Given the description of an element on the screen output the (x, y) to click on. 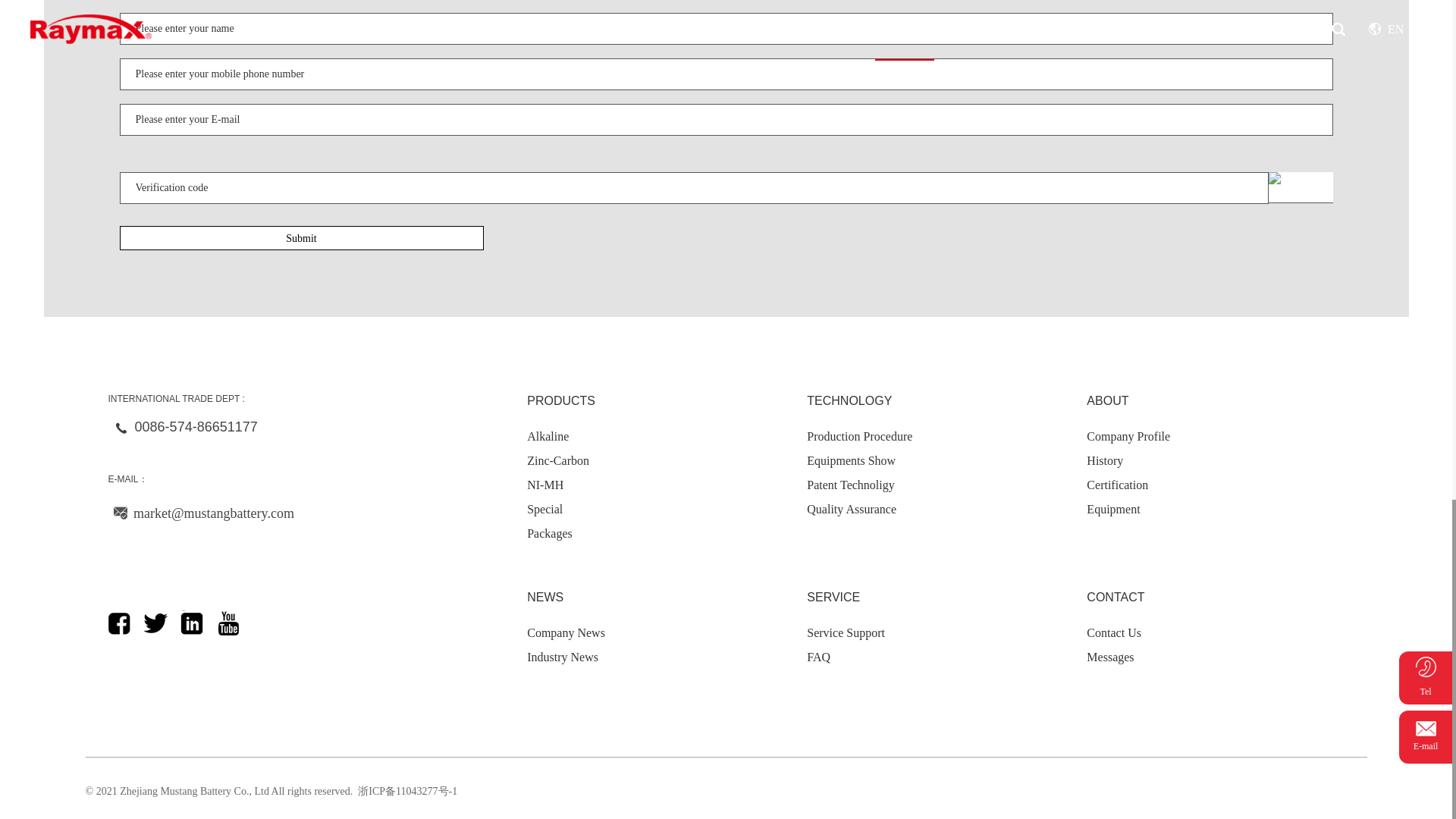
E-mail (121, 430)
E-mail (120, 514)
